Given the description of an element on the screen output the (x, y) to click on. 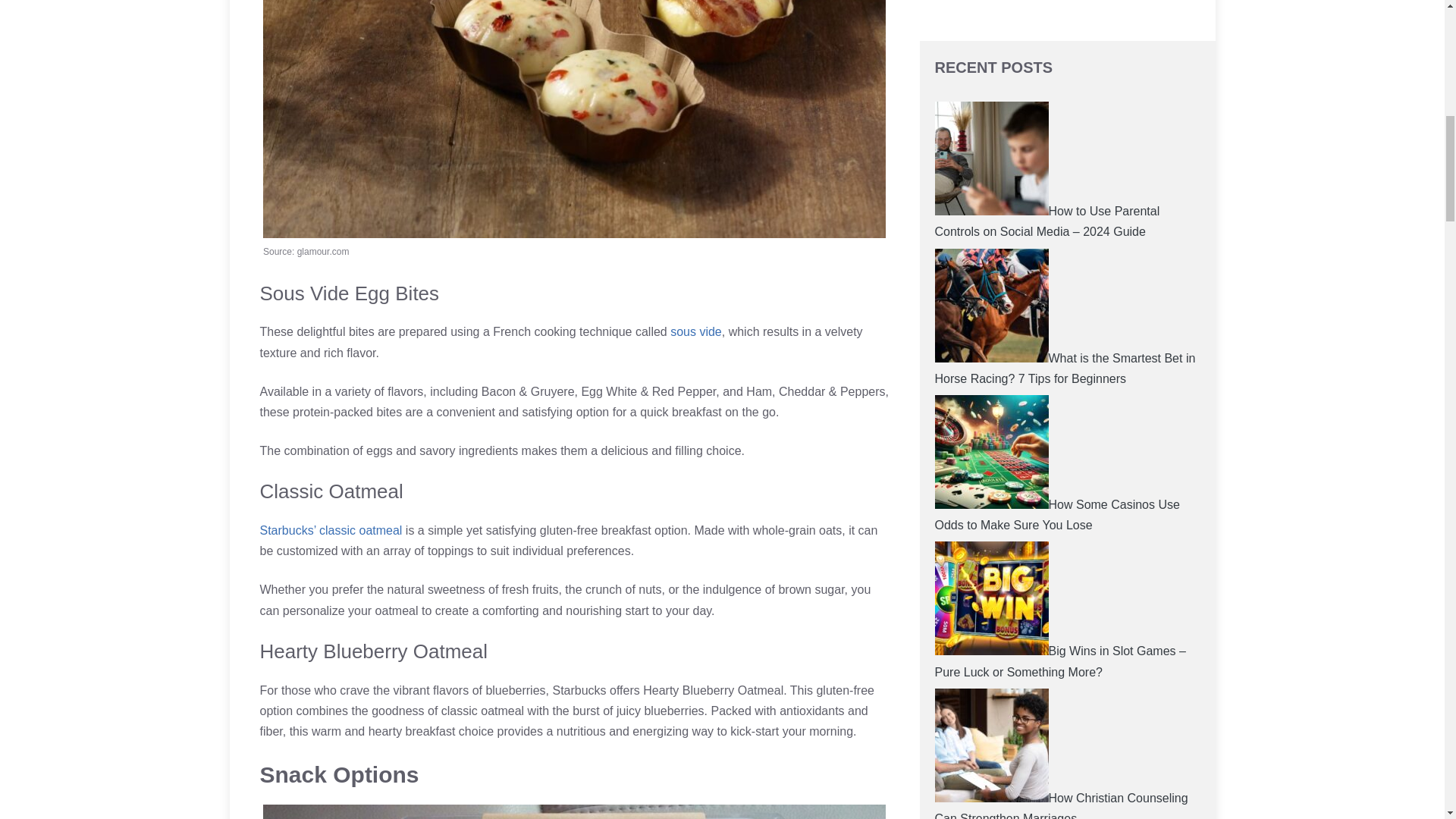
sous vide (695, 331)
Casino (953, 464)
Business (959, 411)
Betting (953, 358)
Artists (951, 305)
Anime Gaming (974, 278)
Car (943, 438)
blog (945, 385)
Dating (951, 492)
How Christian Counseling Can Strengthen Marriages (1061, 172)
Berserk (954, 331)
